Given the description of an element on the screen output the (x, y) to click on. 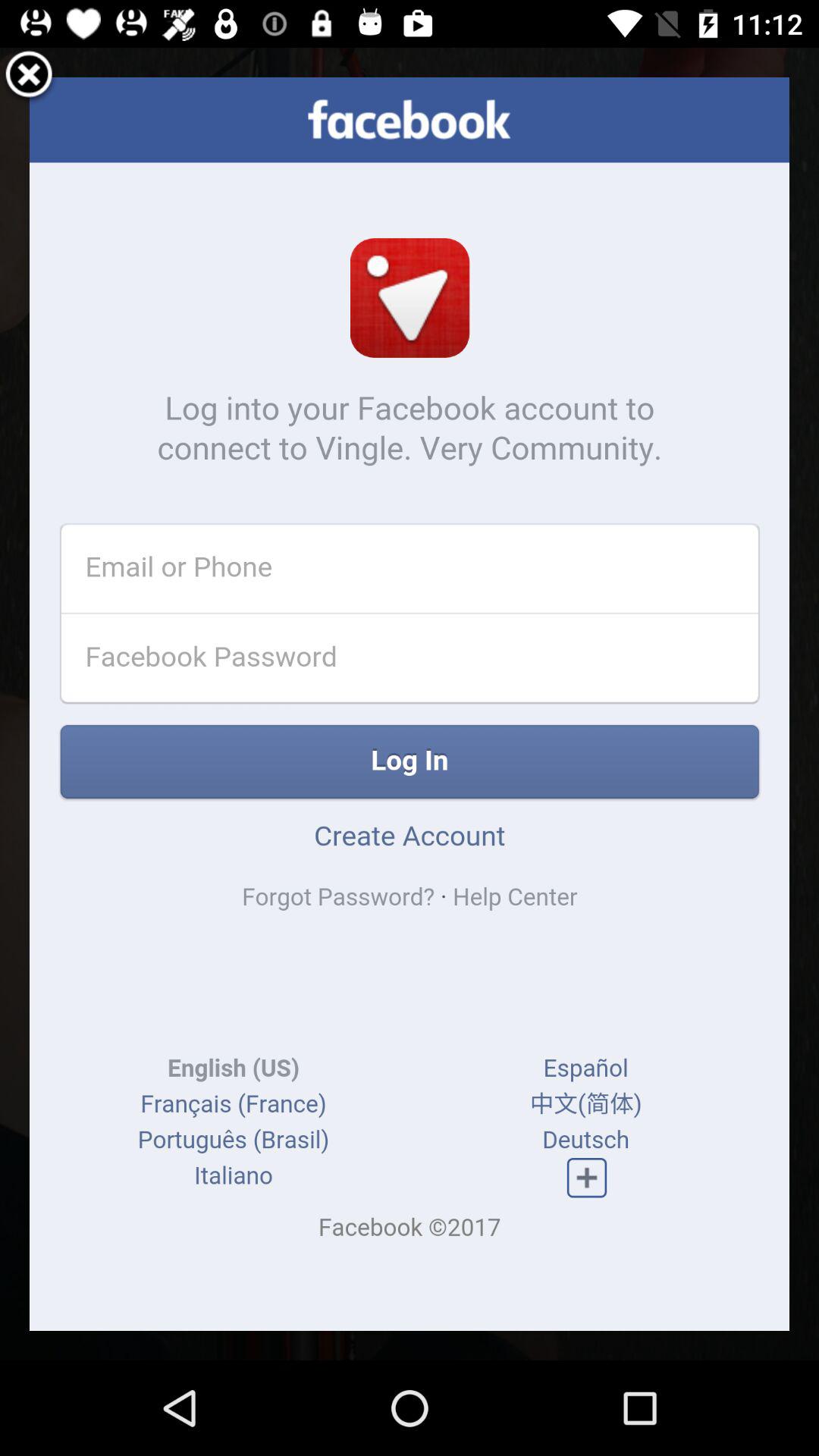
opens the facebook website (409, 703)
